Given the description of an element on the screen output the (x, y) to click on. 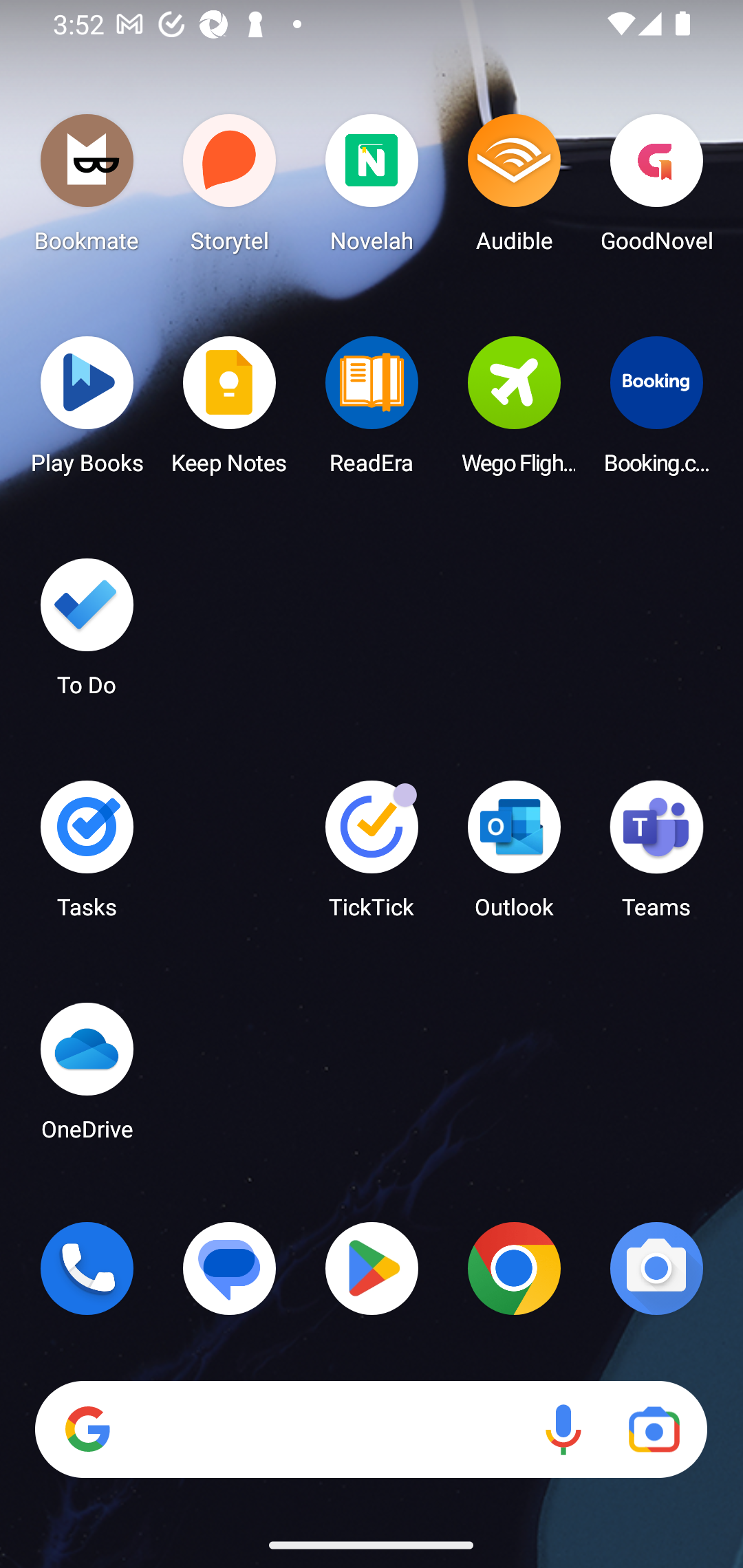
Bookmate (86, 188)
Storytel (229, 188)
Novelah (371, 188)
Audible (513, 188)
GoodNovel (656, 188)
Play Books (86, 410)
Keep Notes (229, 410)
ReadEra (371, 410)
Wego Flights & Hotels (513, 410)
Booking.com (656, 410)
To Do (86, 633)
Tasks (86, 854)
TickTick TickTick has 3 notifications (371, 854)
Outlook (513, 854)
Teams (656, 854)
OneDrive (86, 1076)
Phone (86, 1268)
Messages (229, 1268)
Play Store (371, 1268)
Chrome (513, 1268)
Camera (656, 1268)
Search Voice search Google Lens (370, 1429)
Voice search (562, 1429)
Google Lens (653, 1429)
